Given the description of an element on the screen output the (x, y) to click on. 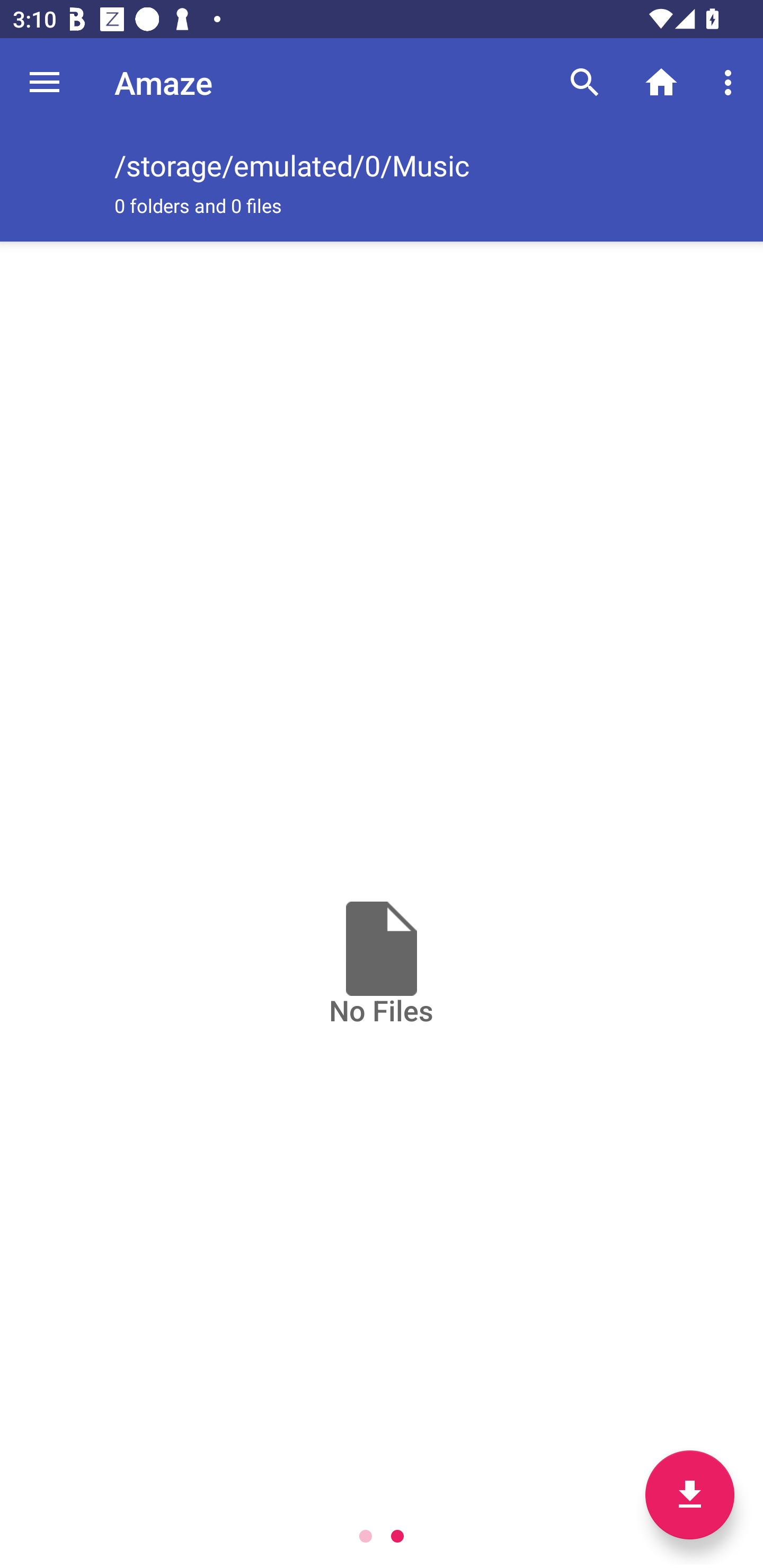
Navigate up (44, 82)
Search (585, 81)
Home (661, 81)
More options (731, 81)
